Given the description of an element on the screen output the (x, y) to click on. 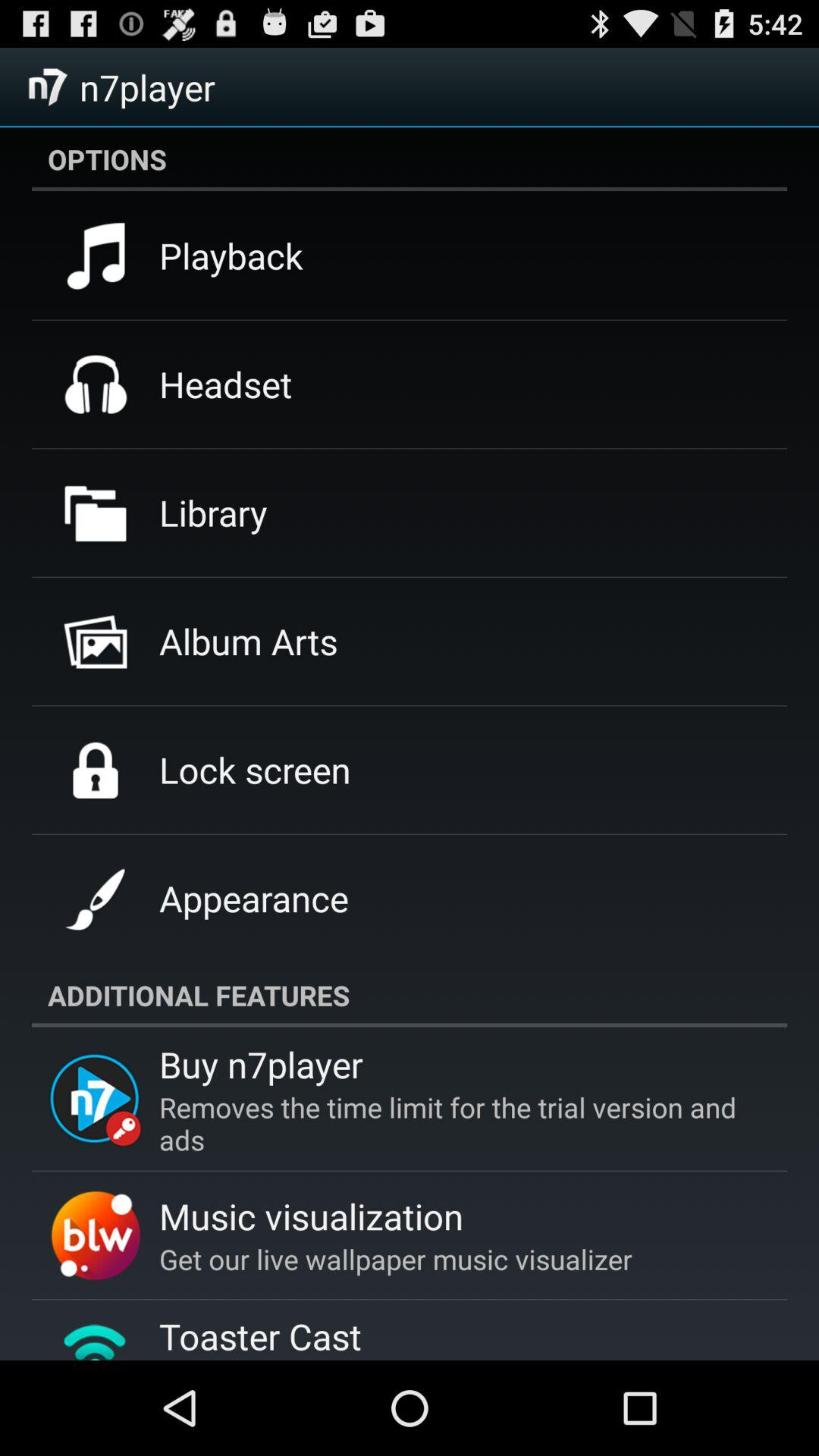
open icon above the additional features app (253, 898)
